Given the description of an element on the screen output the (x, y) to click on. 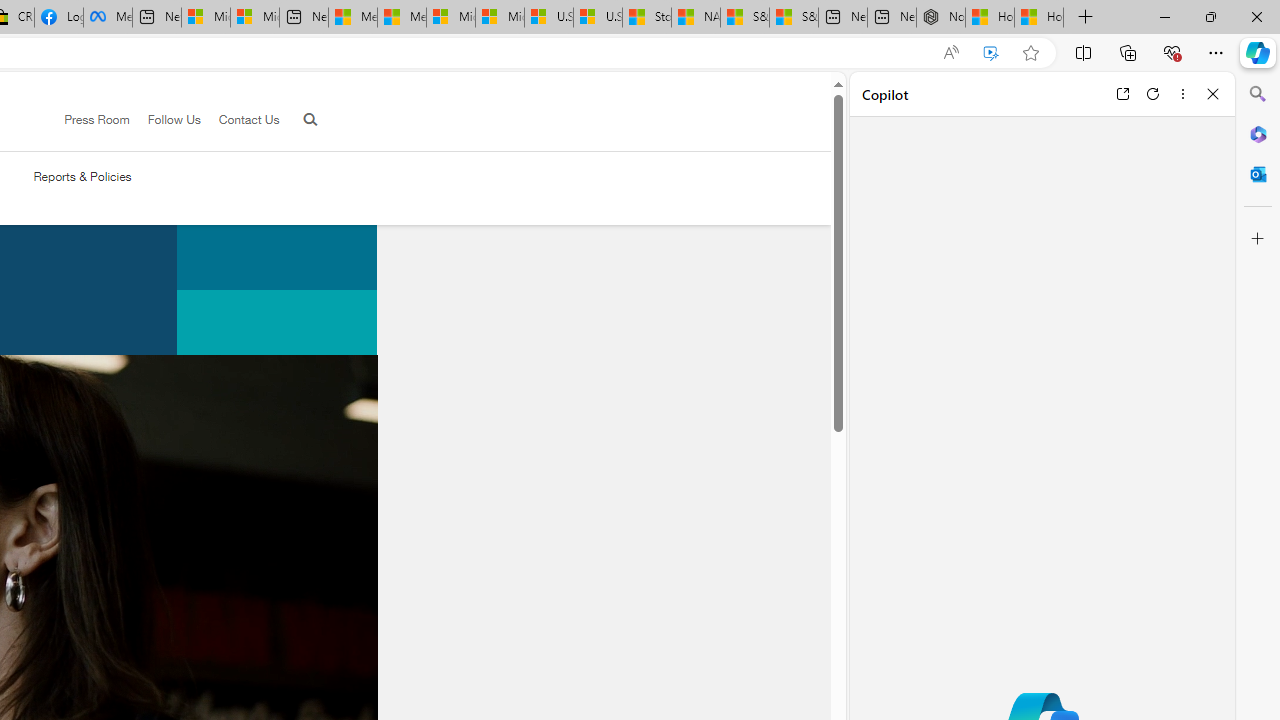
Contact Us (239, 120)
Microsoft 365 (1258, 133)
S&P 500, Nasdaq end lower, weighed by Nvidia dip | Watch (793, 17)
Outlook (1258, 174)
Enhance video (991, 53)
Follow Us (164, 120)
Reports & Policies (82, 176)
Press Room (97, 119)
